Given the description of an element on the screen output the (x, y) to click on. 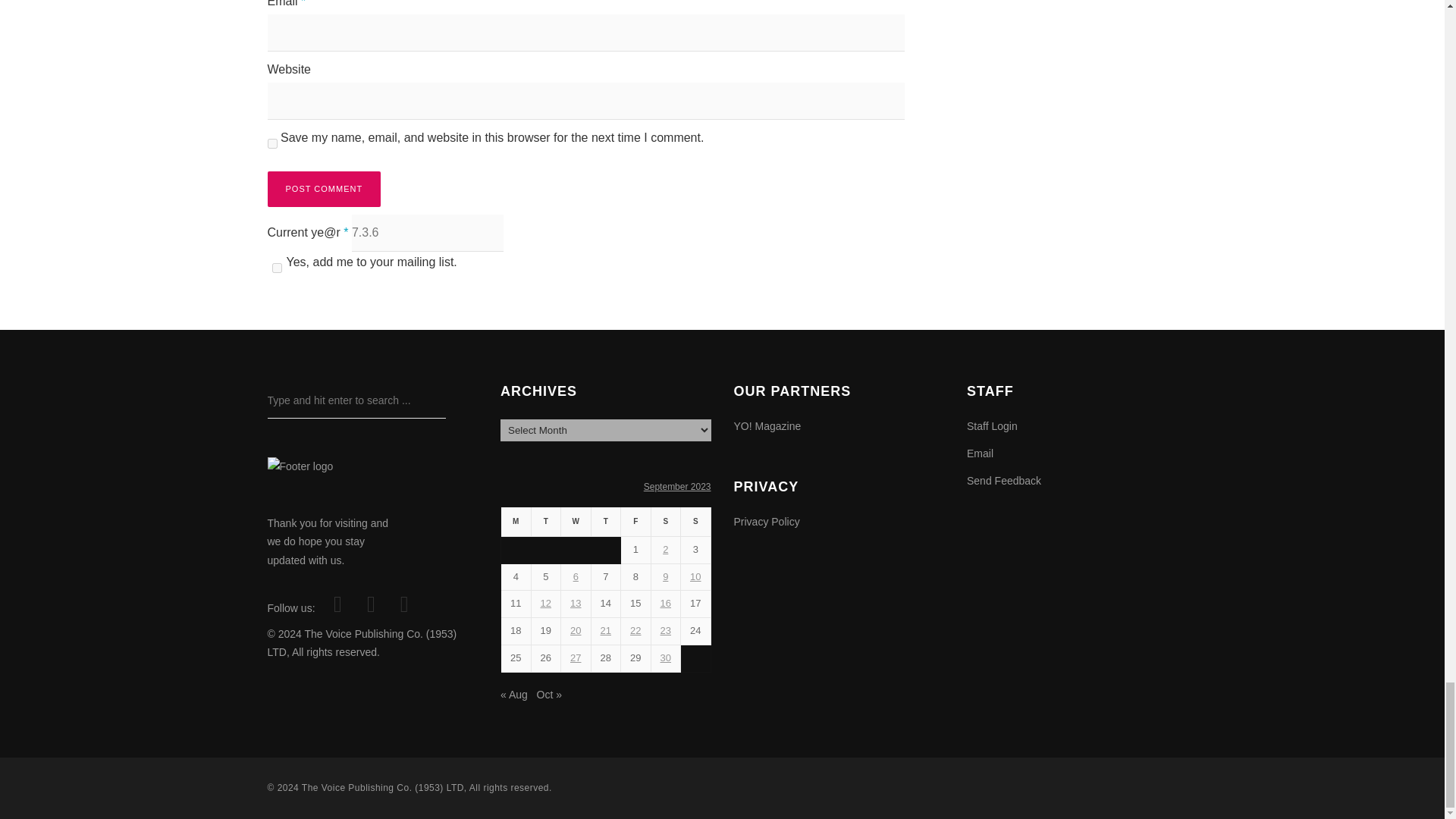
yes (271, 143)
7.3.6 (427, 232)
Type and hit enter to search ... (355, 400)
Post Comment (323, 189)
Type and hit enter to search ... (355, 400)
1 (275, 267)
Monday (515, 521)
